Given the description of an element on the screen output the (x, y) to click on. 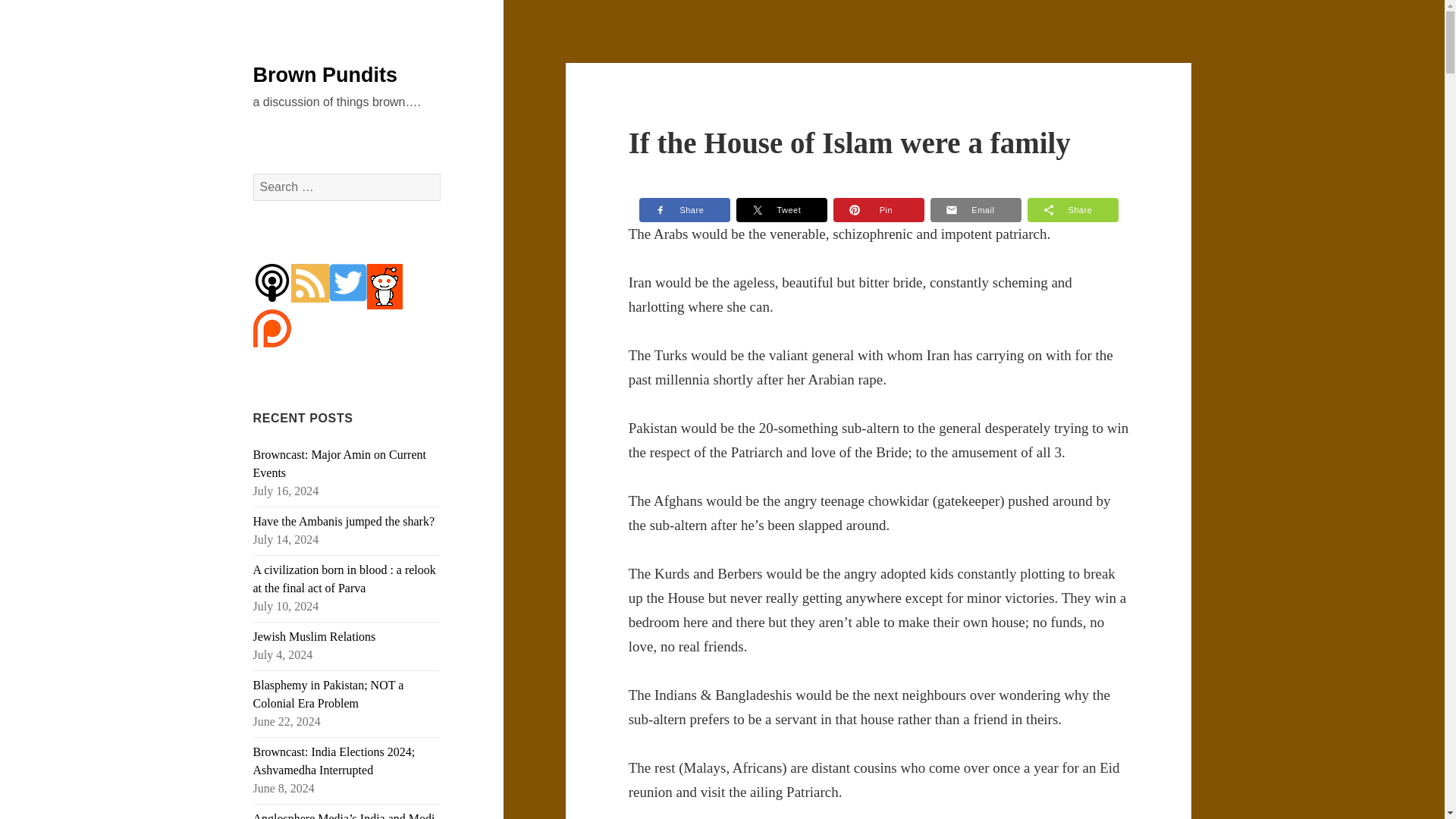
Brown Pundits (325, 74)
Browncast: India Elections 2024; Ashvamedha Interrupted (333, 760)
Blasphemy in Pakistan; NOT a Colonial Era Problem (328, 694)
Have the Ambanis jumped the shark? (344, 521)
Browncast: Major Amin on Current Events (339, 463)
Jewish Muslim Relations (314, 635)
